Given the description of an element on the screen output the (x, y) to click on. 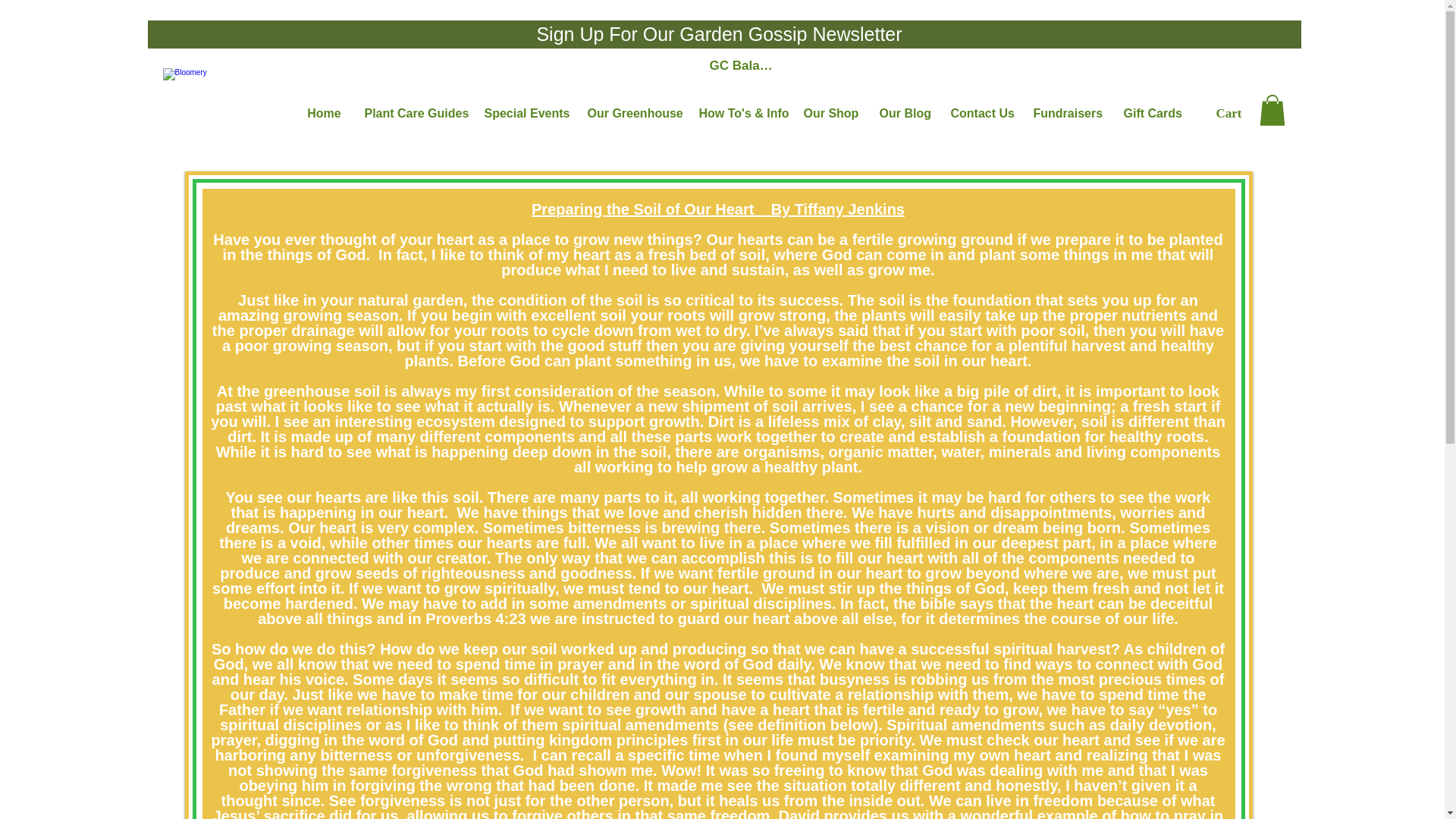
Sign Up For Our Garden Gossip Newsletter (718, 34)
Special Events (524, 112)
GC Balance (743, 65)
Our Blog (903, 112)
Fundraisers (1067, 112)
Plant Care Guides (413, 112)
Gift Cards (1150, 112)
Our Greenhouse (631, 112)
Contact Us (980, 112)
Home (324, 112)
Our Shop (829, 112)
